Given the description of an element on the screen output the (x, y) to click on. 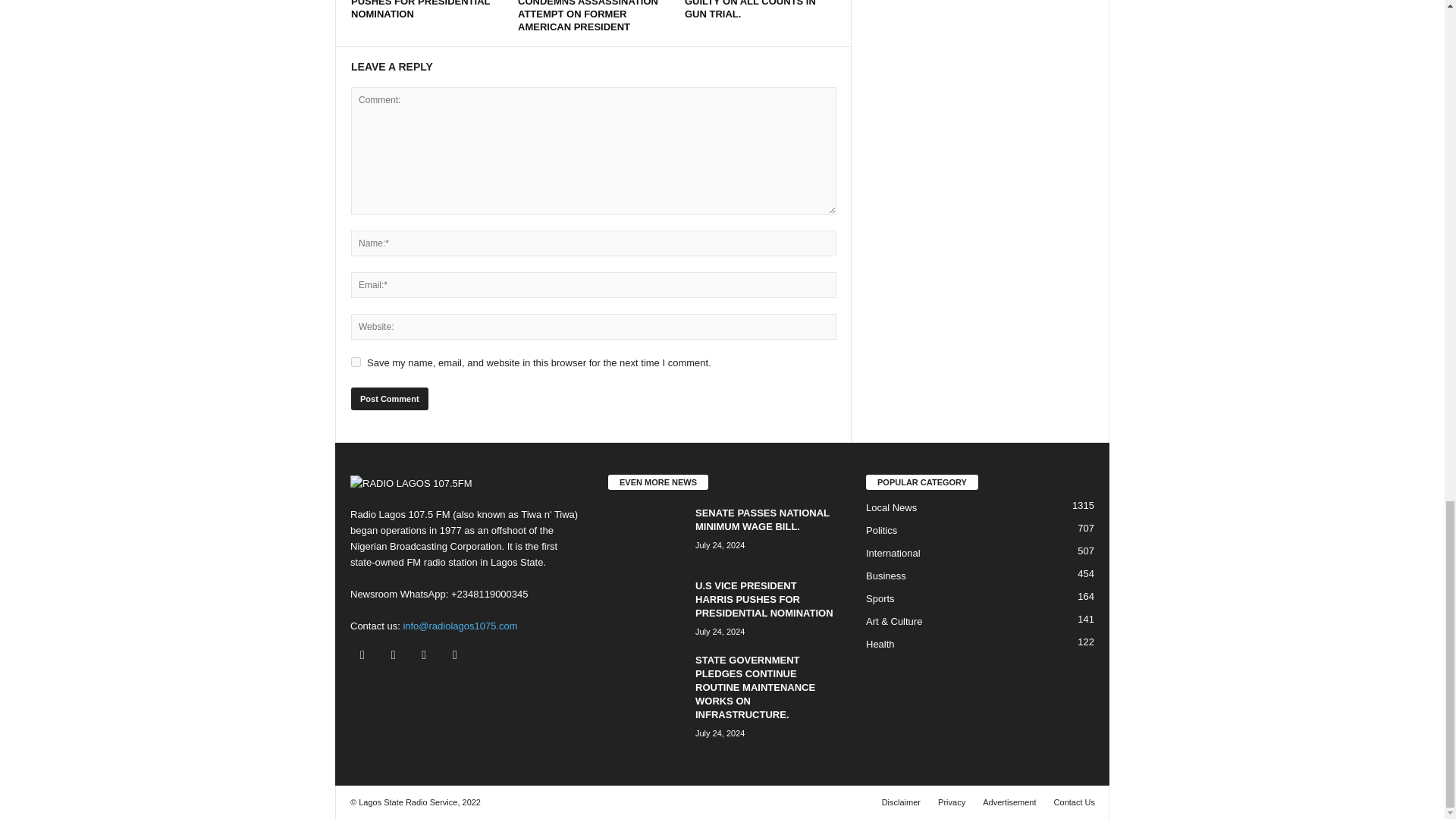
Post Comment (389, 398)
yes (355, 361)
